Given the description of an element on the screen output the (x, y) to click on. 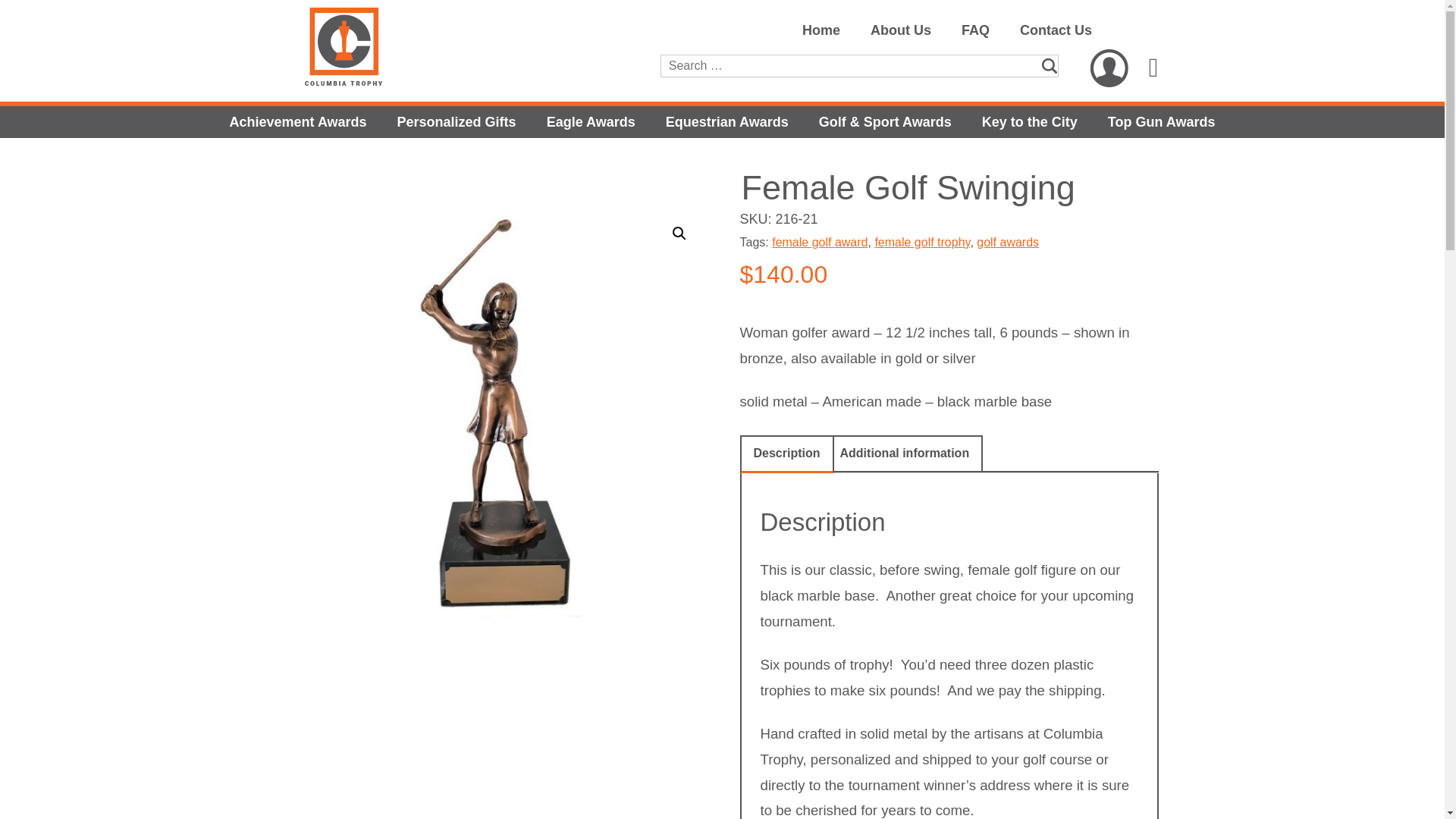
golf awards (1007, 241)
About Us (901, 30)
Eagle Awards (590, 121)
Top Gun Awards (1161, 121)
Achievement Awards (297, 121)
Equestrian Awards (727, 121)
Search (31, 11)
FAQ (975, 30)
Description (787, 453)
female golf trophy (922, 241)
Contact Us (1055, 30)
Additional information (904, 453)
female golf award (819, 241)
Home (821, 30)
Personalized Gifts (456, 121)
